Given the description of an element on the screen output the (x, y) to click on. 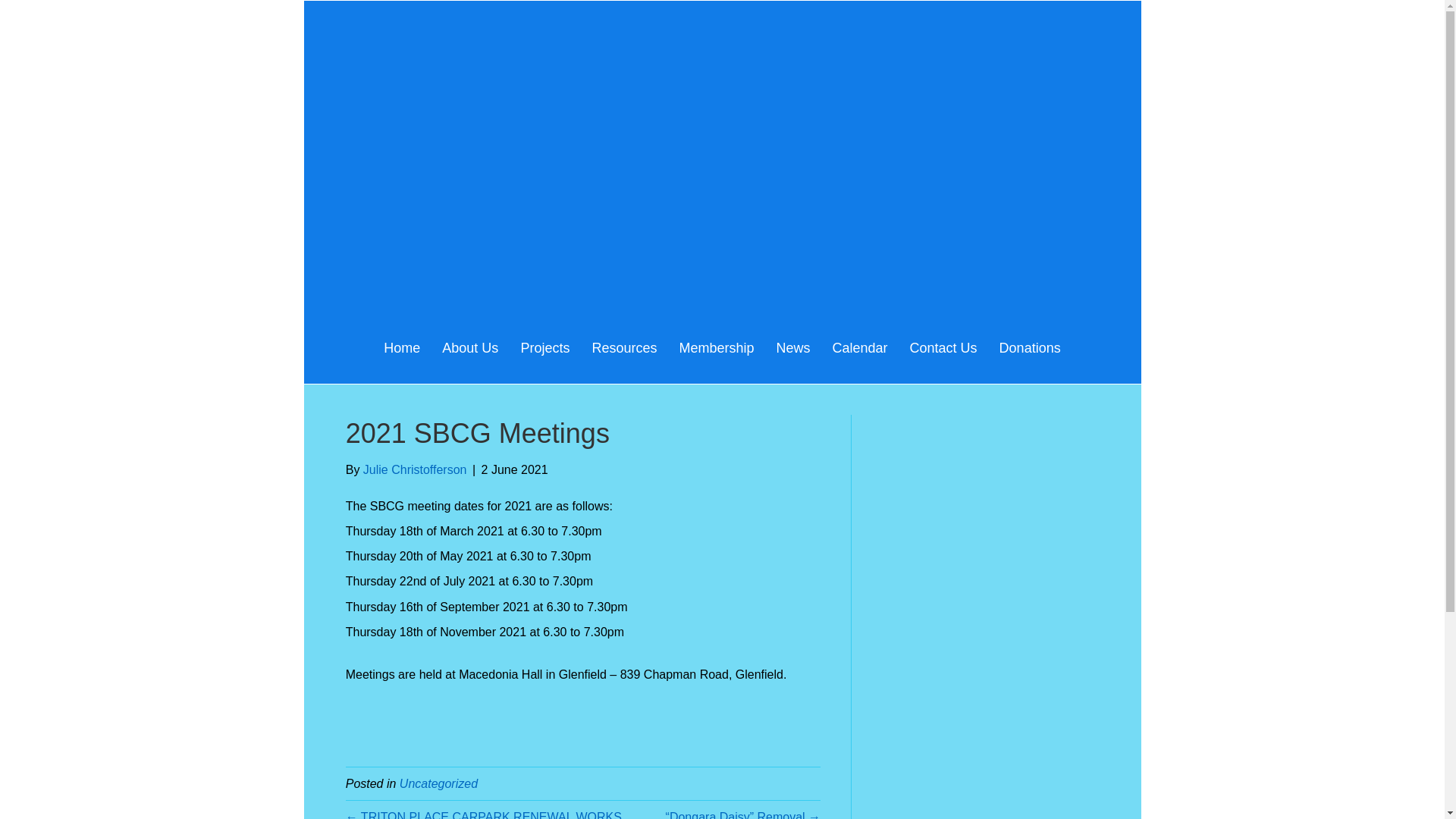
Contact Us Element type: text (943, 347)
Membership Element type: text (716, 347)
Home Element type: text (401, 347)
Julie Christofferson Element type: text (415, 469)
Uncategorized Element type: text (438, 783)
Donations Element type: text (1029, 347)
About Us Element type: text (469, 347)
Projects Element type: text (544, 347)
Calendar Element type: text (860, 347)
Resources Element type: text (623, 347)
News Element type: text (793, 347)
